Given the description of an element on the screen output the (x, y) to click on. 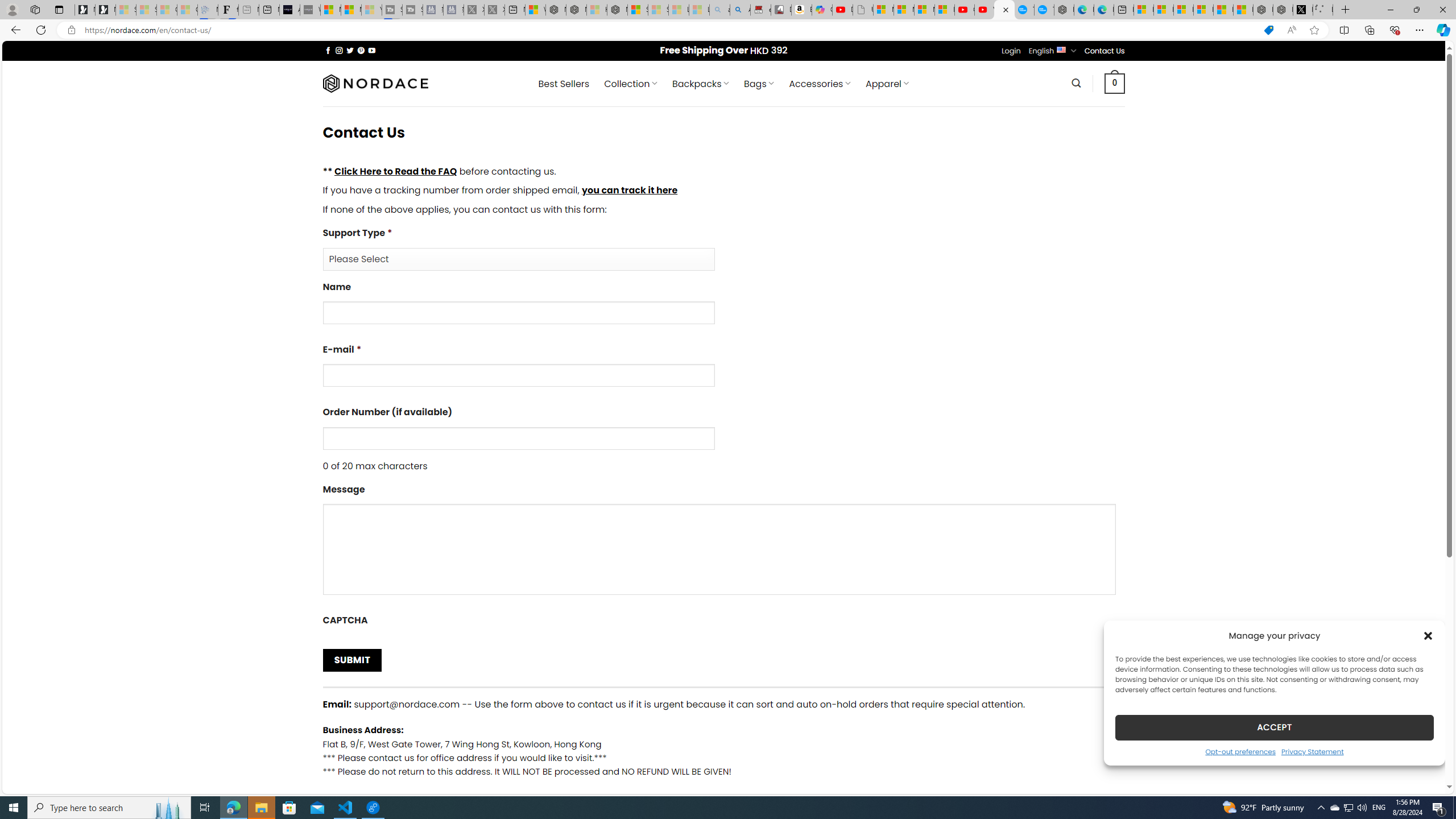
Nordace - Contact Us (1004, 9)
you can track it here (629, 190)
Follow on Pinterest (360, 49)
Nordace (@NordaceOfficial) / X (1302, 9)
  0   (1115, 83)
YouTube Kids - An App Created for Kids to Explore Content (983, 9)
